Given the description of an element on the screen output the (x, y) to click on. 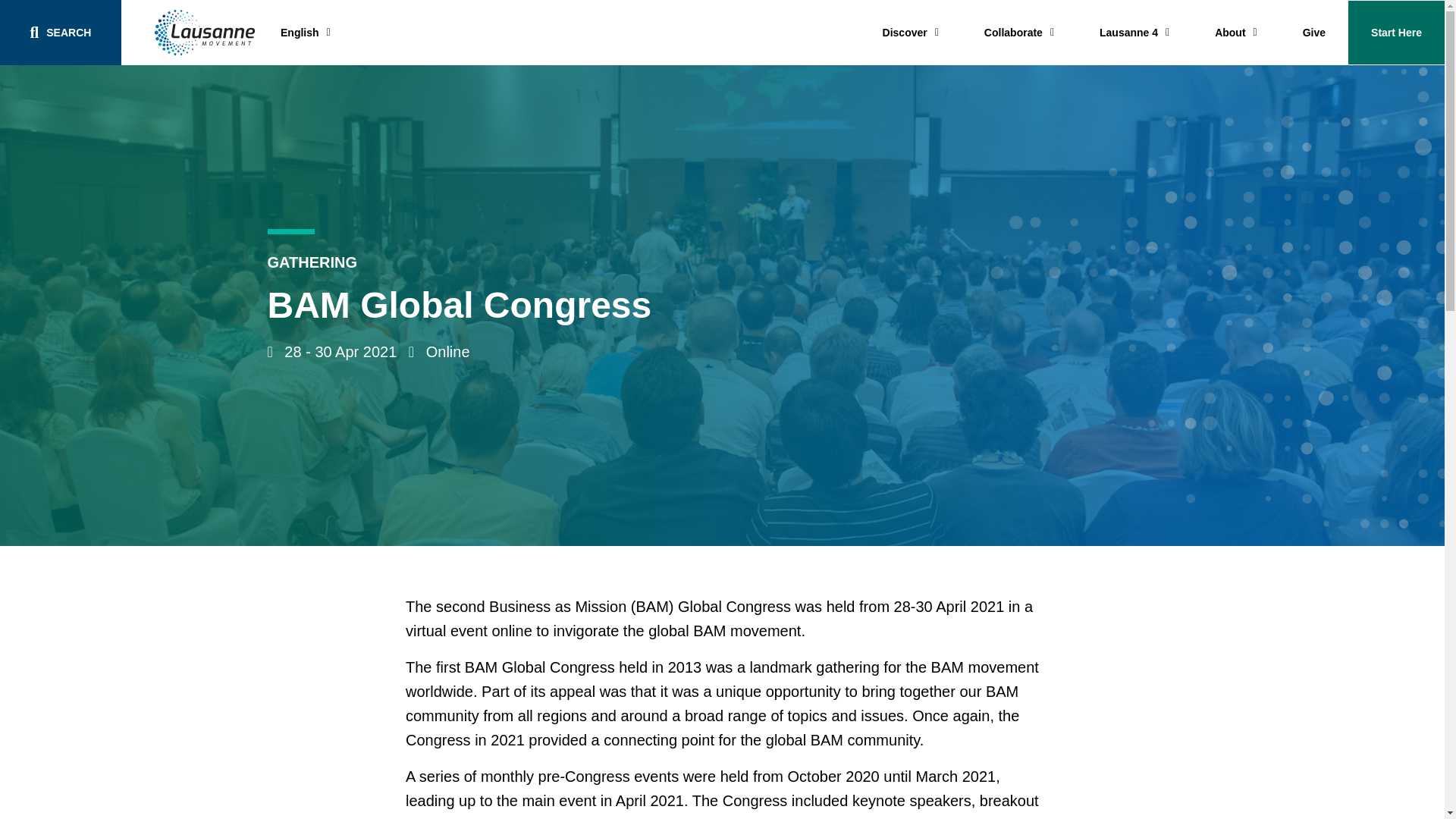
Give (1313, 32)
Discover (910, 32)
Lausanne 4 (1134, 32)
English (305, 32)
About (1235, 32)
SEARCH (60, 32)
Collaborate (1018, 32)
